Given the description of an element on the screen output the (x, y) to click on. 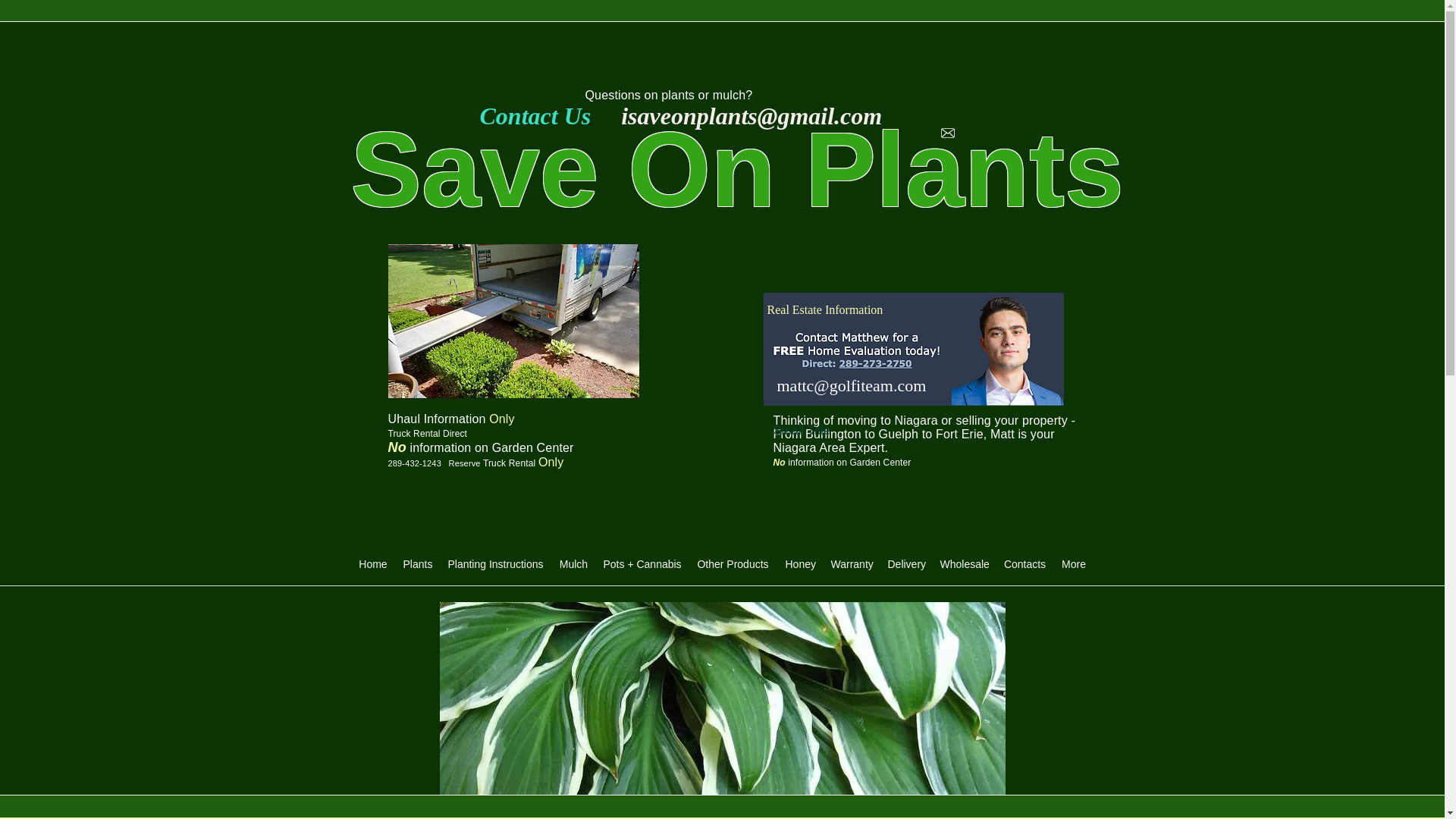
Real estate that works I hope .png (912, 348)
Honey (800, 563)
Save On Plants (736, 169)
Wholesale (964, 563)
Home (372, 563)
